Given the description of an element on the screen output the (x, y) to click on. 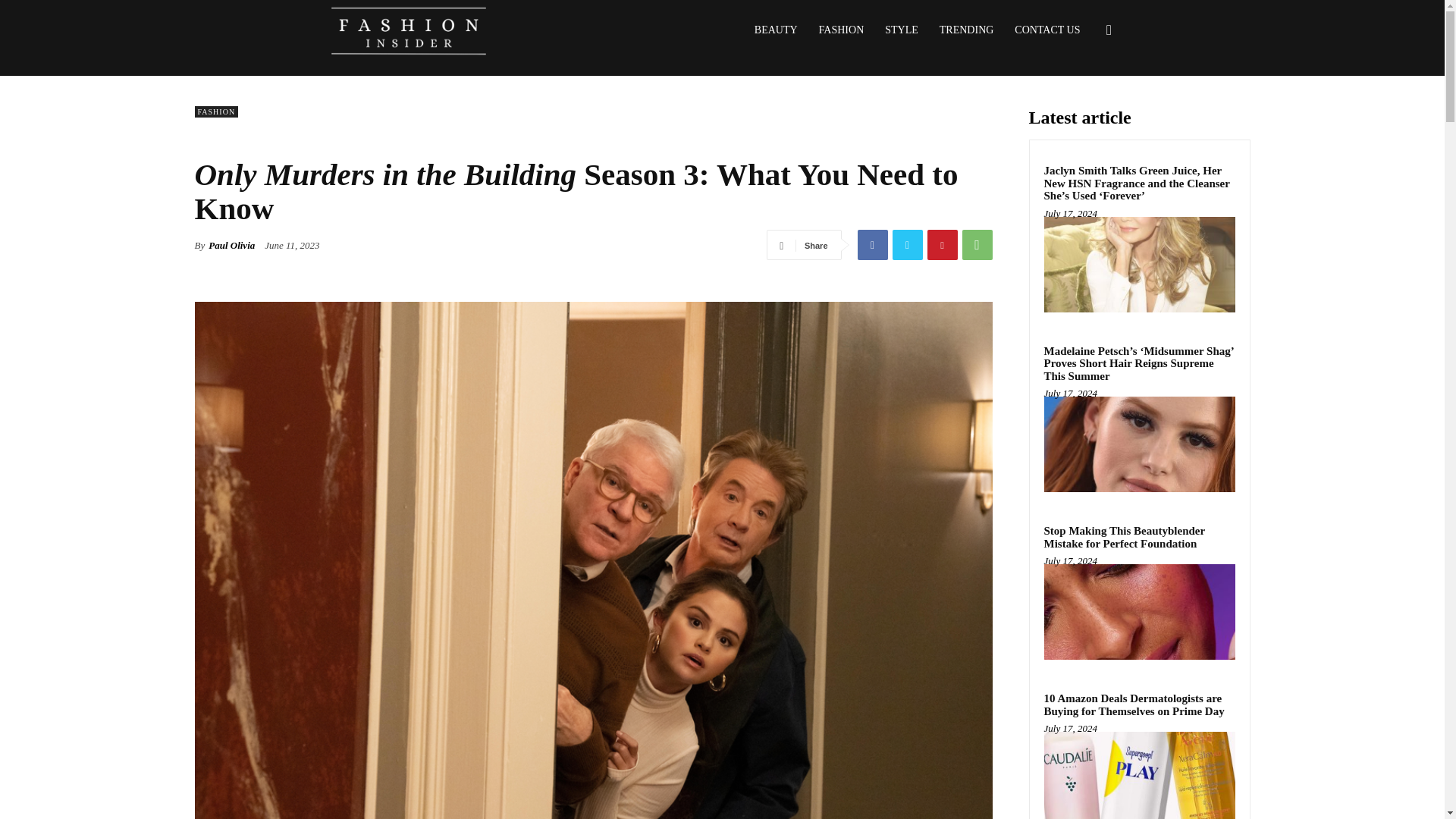
Fashion Insider Mag (408, 30)
WhatsApp (975, 245)
Search (1085, 102)
TRENDING (966, 30)
Facebook (871, 245)
FASHION (841, 30)
Twitter (906, 245)
BEAUTY (776, 30)
FASHION (215, 111)
CONTACT US (1047, 30)
Pinterest (941, 245)
Paul Olivia (231, 245)
STYLE (901, 30)
